Given the description of an element on the screen output the (x, y) to click on. 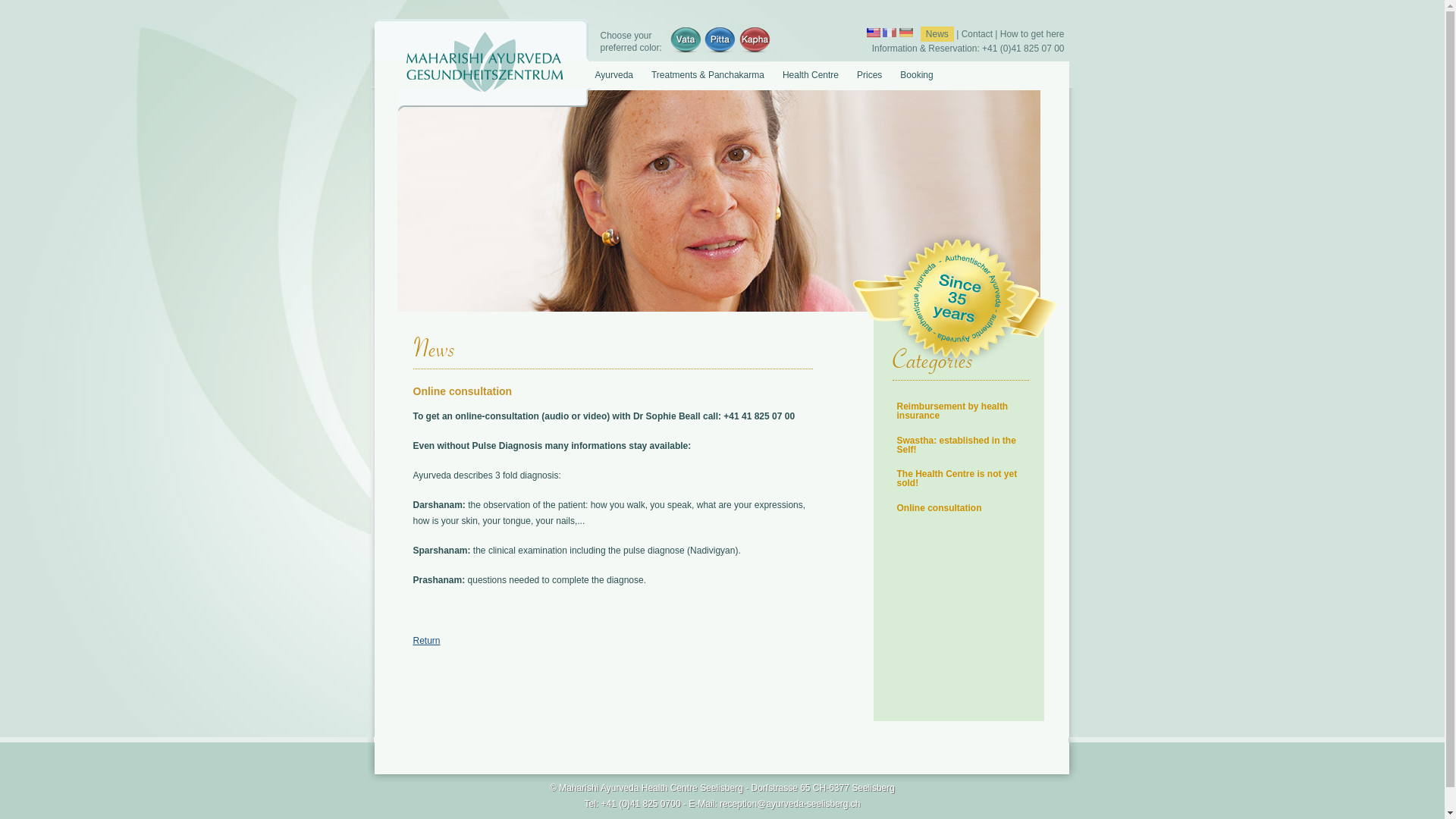
Deutsch (German) Element type: hover (906, 32)
News Element type: text (936, 33)
Booking Element type: text (915, 74)
Treatments & Panchakarma Element type: text (707, 74)
How to get here Element type: text (1032, 33)
Reimbursement by health insurance Element type: text (951, 410)
Prices Element type: text (869, 74)
Contact Element type: text (976, 33)
Online consultation Element type: text (938, 507)
Return Element type: text (425, 640)
English Element type: hover (873, 32)
Ayurveda Element type: text (613, 74)
Health Centre Element type: text (809, 74)
Swastha: established in the Self! Element type: text (955, 445)
The Health Centre is not yet sold! Element type: text (956, 478)
